Given the description of an element on the screen output the (x, y) to click on. 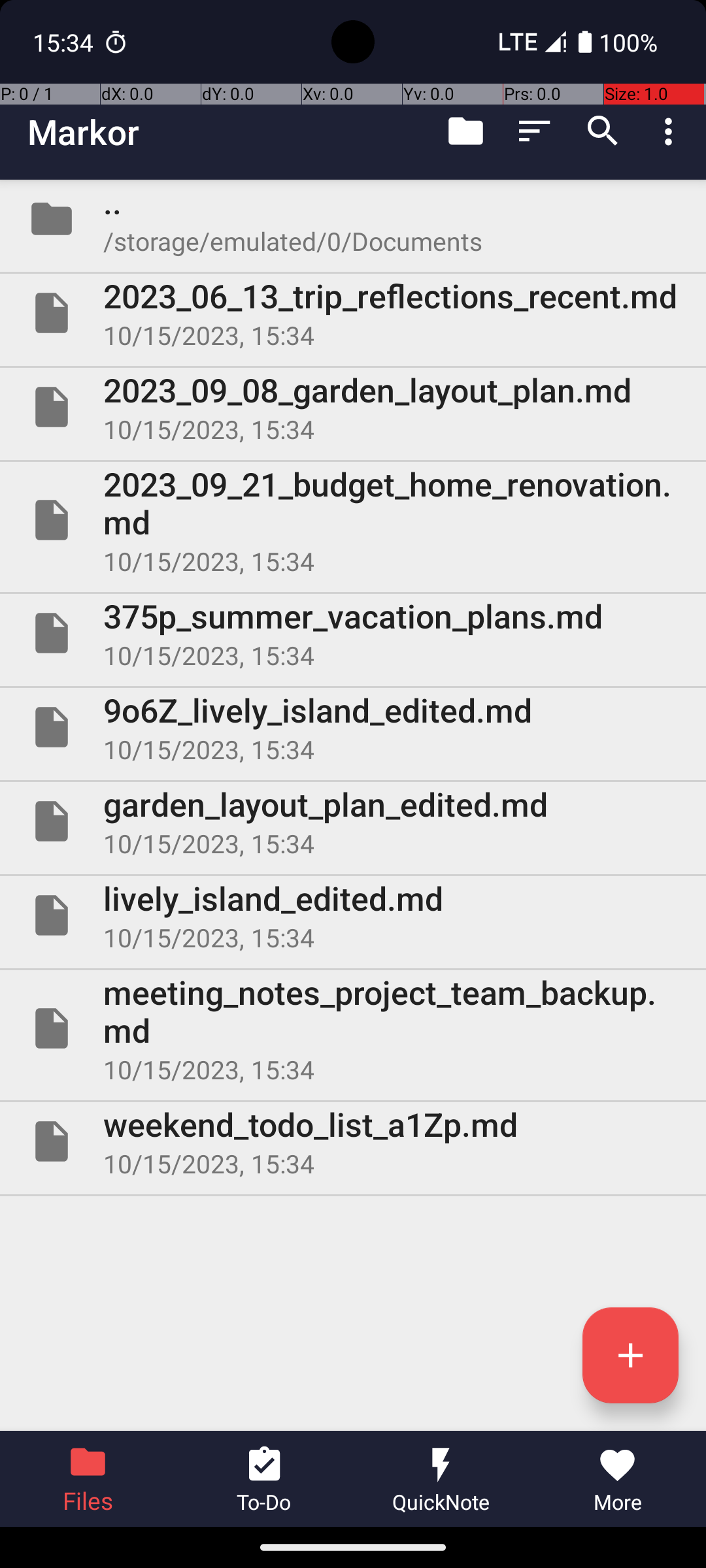
File 2023_06_13_trip_reflections_recent.md  Element type: android.widget.LinearLayout (353, 312)
File 2023_09_08_garden_layout_plan.md  Element type: android.widget.LinearLayout (353, 406)
File 2023_09_21_budget_home_renovation.md  Element type: android.widget.LinearLayout (353, 519)
File 375p_summer_vacation_plans.md  Element type: android.widget.LinearLayout (353, 632)
File 9o6Z_lively_island_edited.md  Element type: android.widget.LinearLayout (353, 726)
File garden_layout_plan_edited.md  Element type: android.widget.LinearLayout (353, 821)
File lively_island_edited.md  Element type: android.widget.LinearLayout (353, 915)
File meeting_notes_project_team_backup.md  Element type: android.widget.LinearLayout (353, 1028)
File weekend_todo_list_a1Zp.md  Element type: android.widget.LinearLayout (353, 1141)
